Given the description of an element on the screen output the (x, y) to click on. 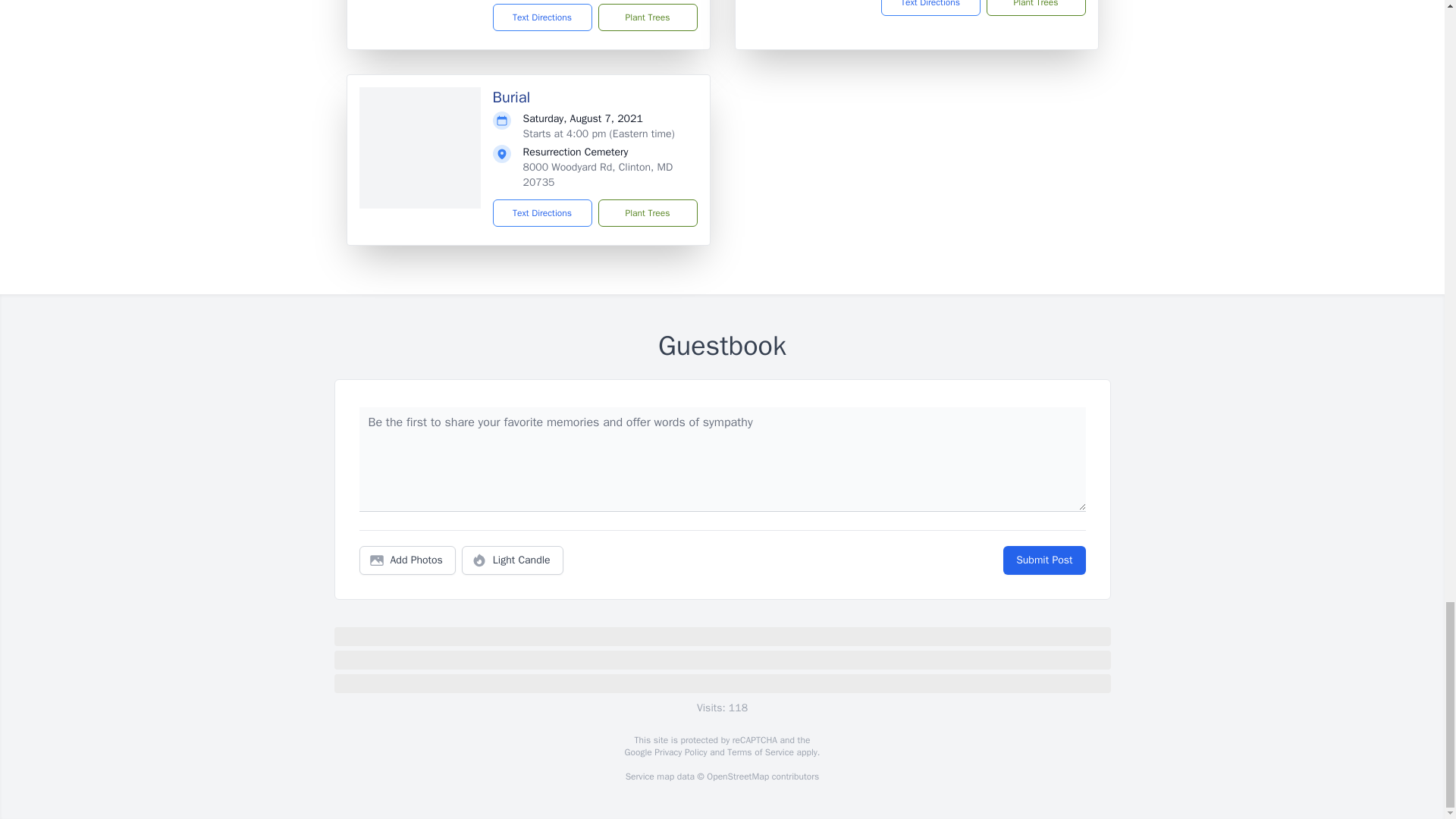
Text Directions (542, 212)
Plant Trees (1034, 7)
Privacy Policy (679, 752)
Light Candle (512, 560)
Plant Trees (646, 17)
Add Photos (407, 560)
Submit Post (1043, 560)
Text Directions (542, 17)
Plant Trees (646, 212)
8000 Woodyard Rd, Clinton, MD 20735 (597, 174)
